Given the description of an element on the screen output the (x, y) to click on. 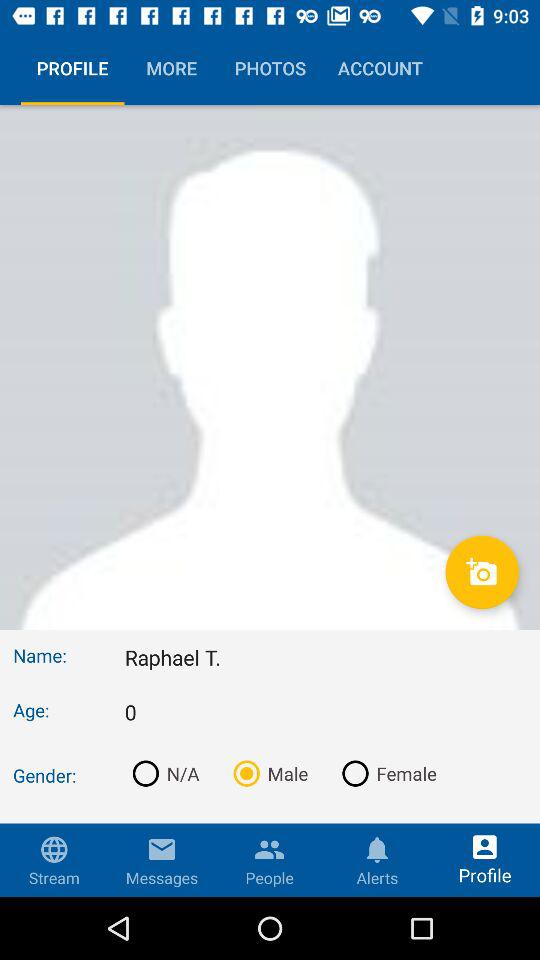
open the raphael t. icon (325, 657)
